Given the description of an element on the screen output the (x, y) to click on. 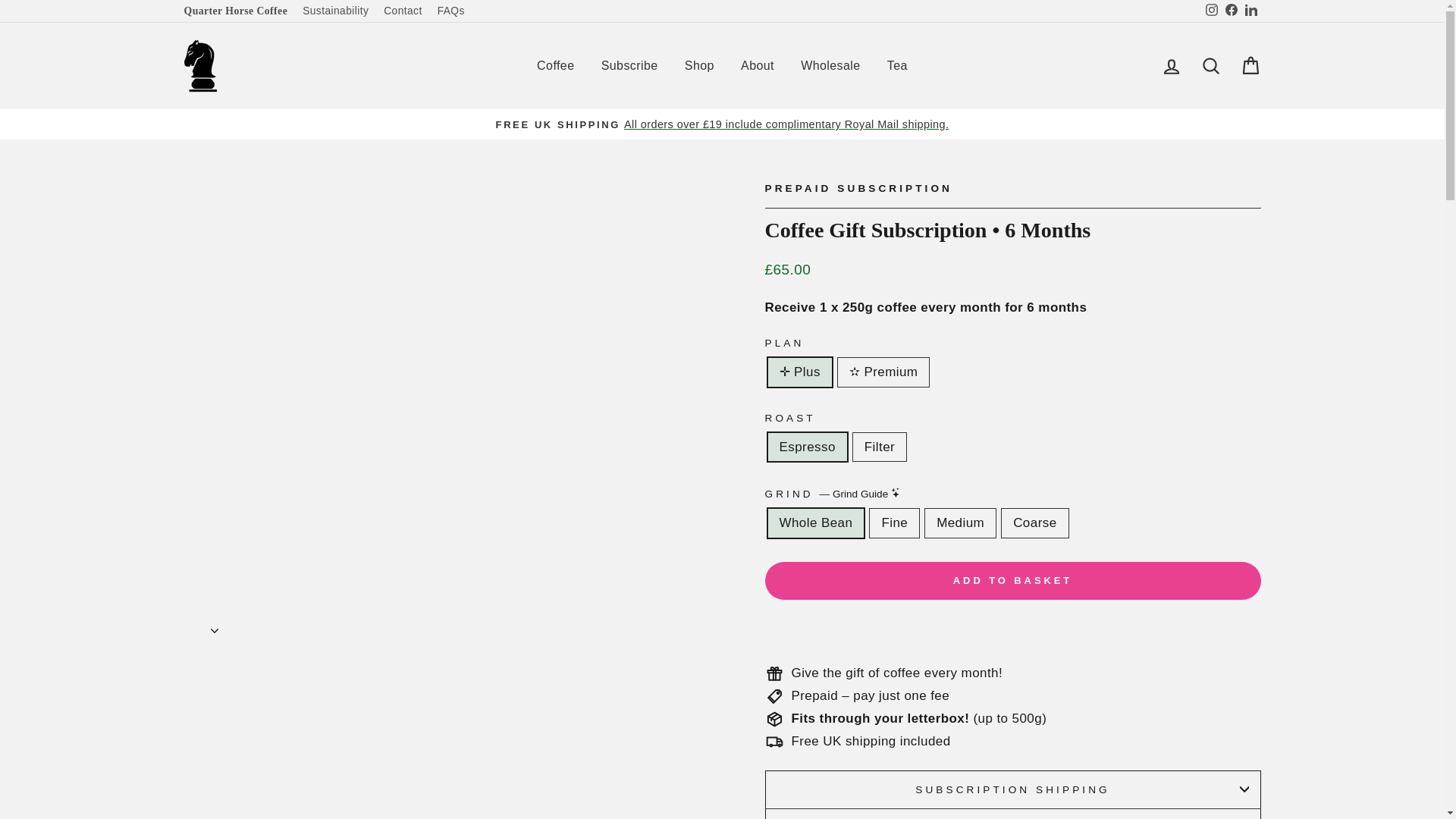
Quarter Horse Coffee on LinkedIn (1250, 11)
Quarter Horse Coffee on Facebook (1230, 11)
Prepaid Subscription (858, 188)
Quarter Horse Coffee on Instagram (1211, 11)
